Given the description of an element on the screen output the (x, y) to click on. 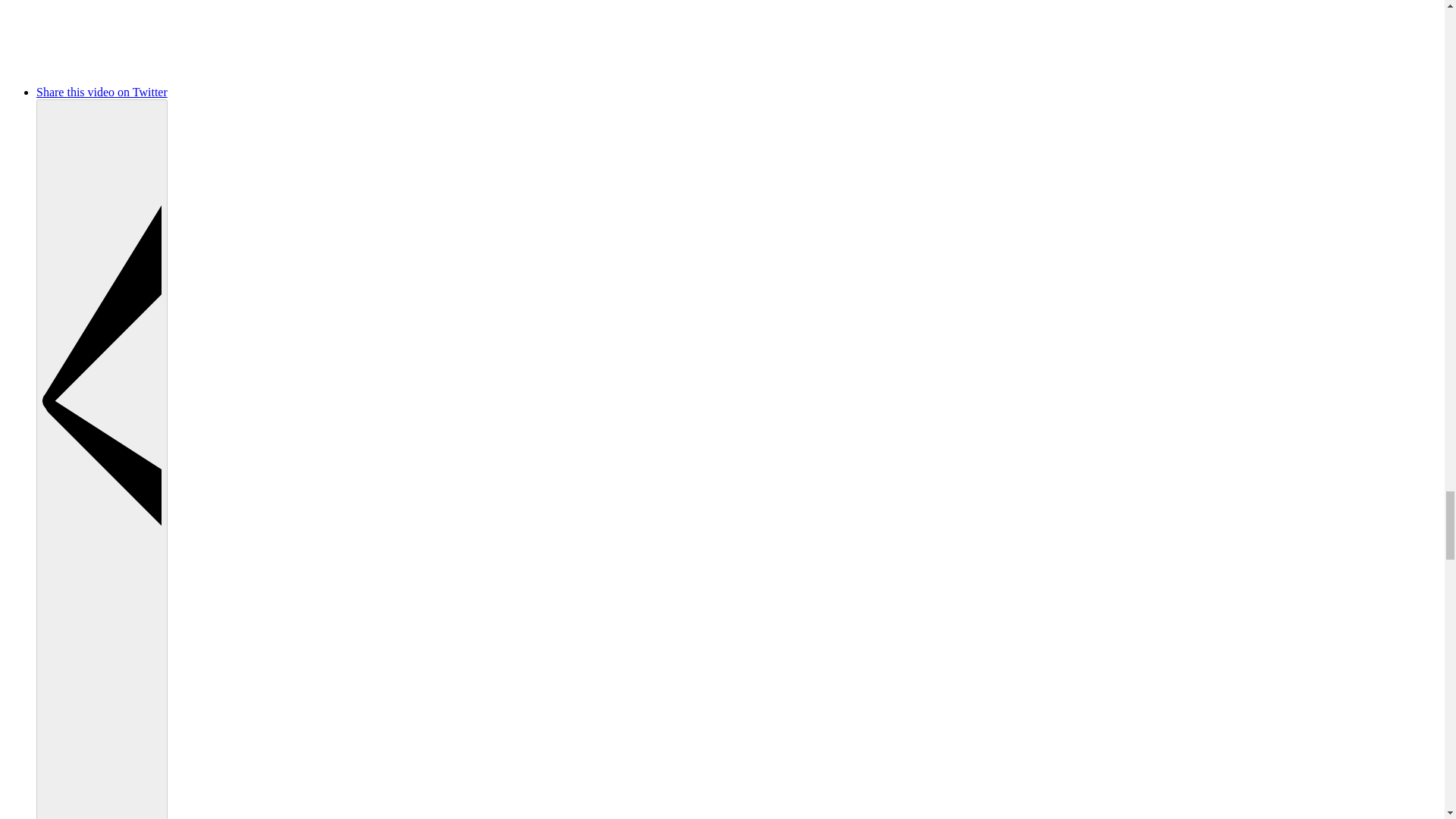
Twitter (215, 91)
